Given the description of an element on the screen output the (x, y) to click on. 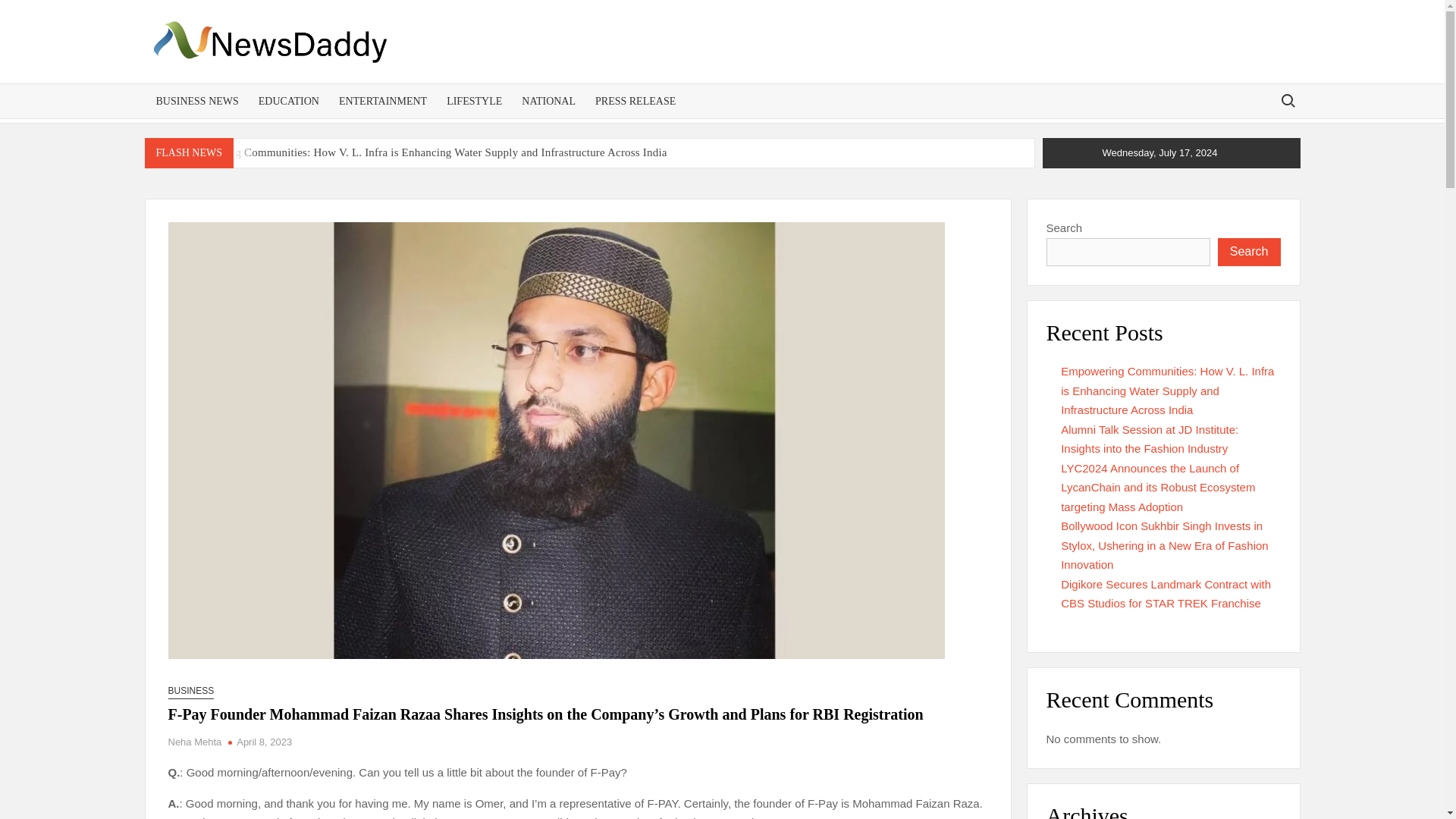
NEWS DADDY (458, 79)
ENTERTAINMENT (382, 100)
LIFESTYLE (474, 100)
BUSINESS NEWS (196, 100)
PRESS RELEASE (635, 100)
EDUCATION (288, 100)
NATIONAL (548, 100)
Search for: (1287, 100)
